Given the description of an element on the screen output the (x, y) to click on. 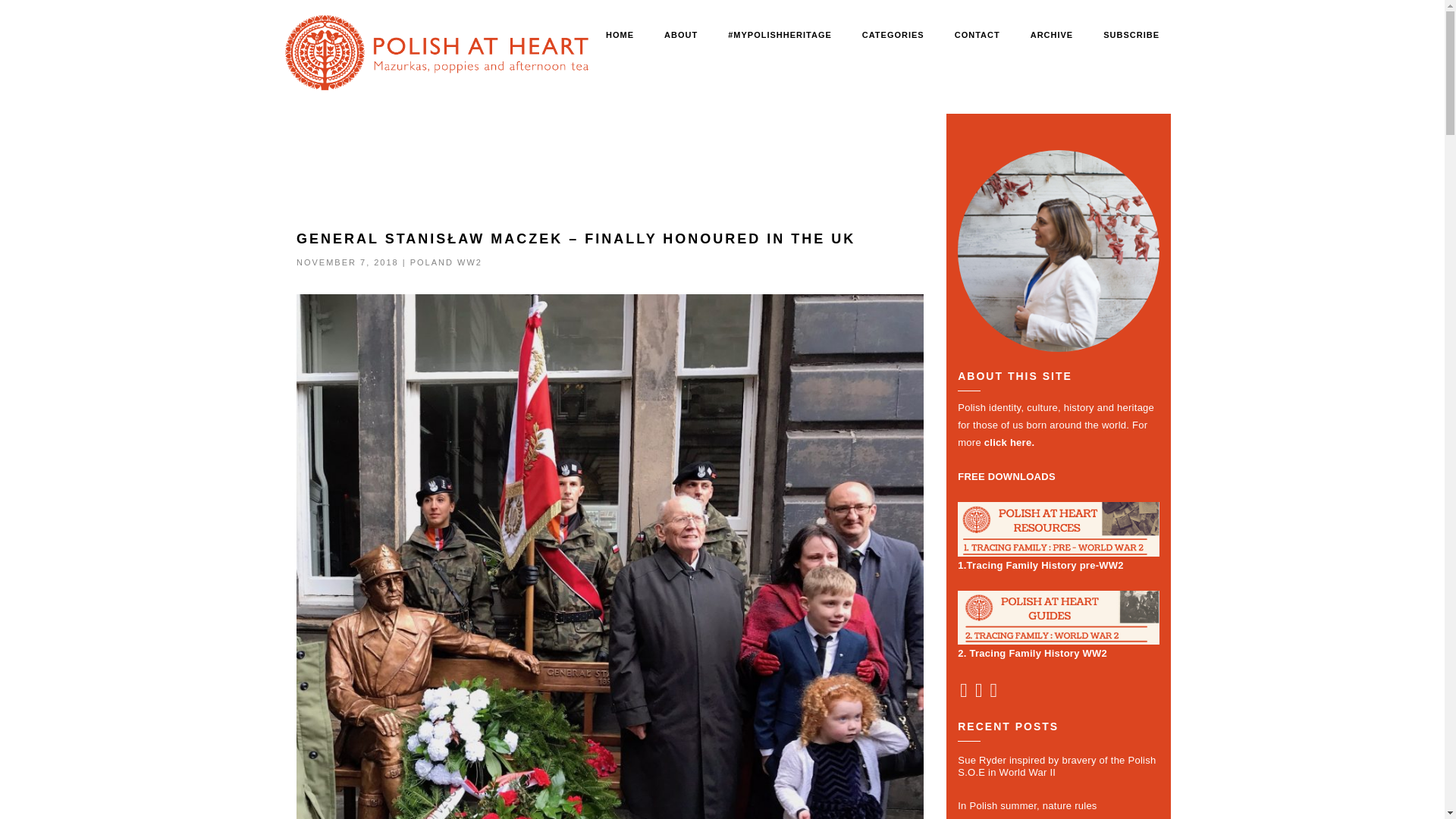
SUBSCRIBE (1130, 35)
click here. (1007, 441)
ABOUT (680, 35)
POLAND WW2 (445, 261)
ARCHIVE (1052, 35)
1.Tracing Family History pre-WW2 (1058, 536)
In Polish summer, nature rules (1058, 806)
CONTACT (977, 35)
2. Tracing Family History WW2 (1058, 624)
